Given the description of an element on the screen output the (x, y) to click on. 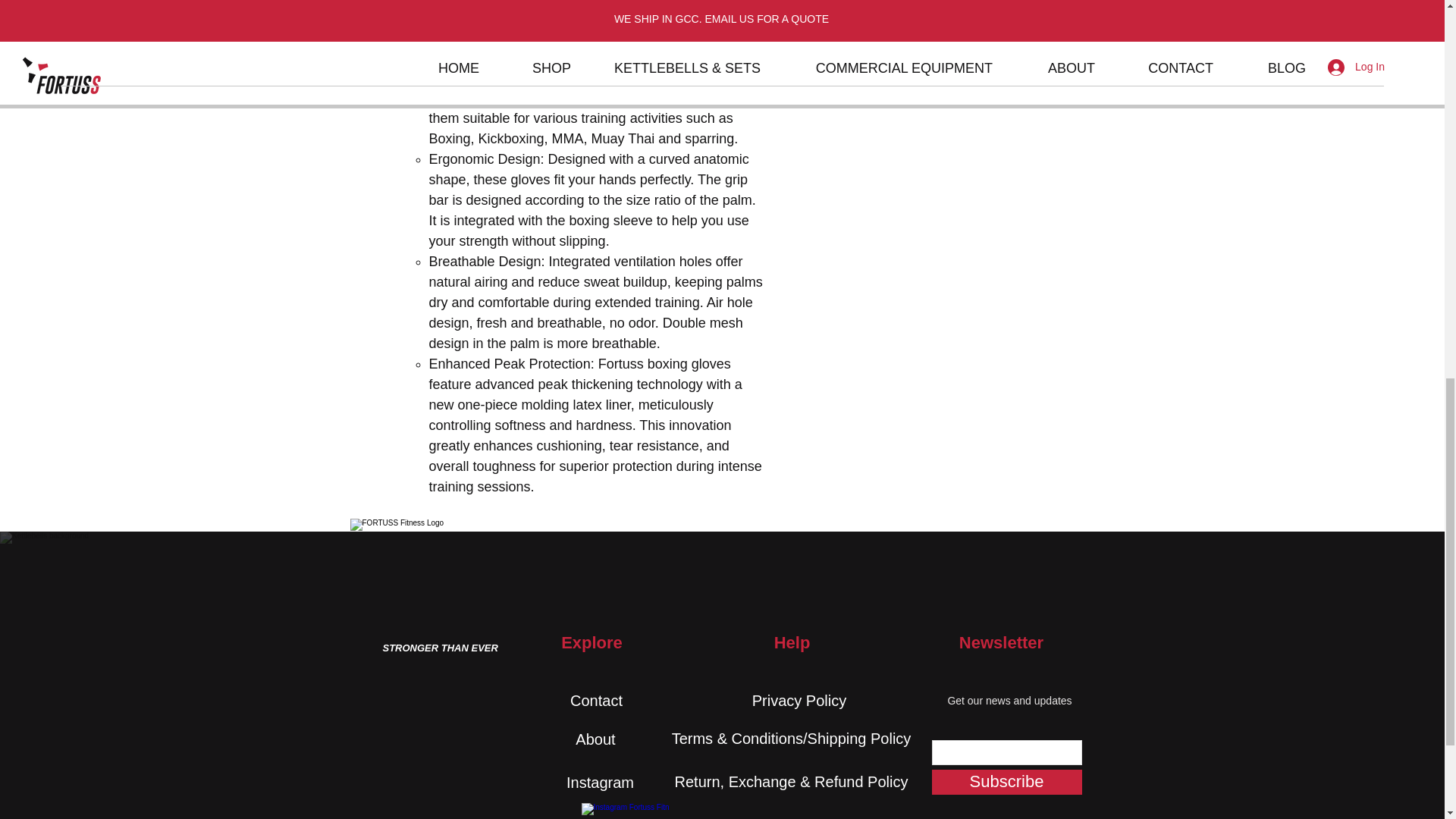
Contact (595, 700)
Subscribe (1006, 781)
About (595, 739)
Privacy Policy (798, 700)
Instagram (599, 782)
